Given the description of an element on the screen output the (x, y) to click on. 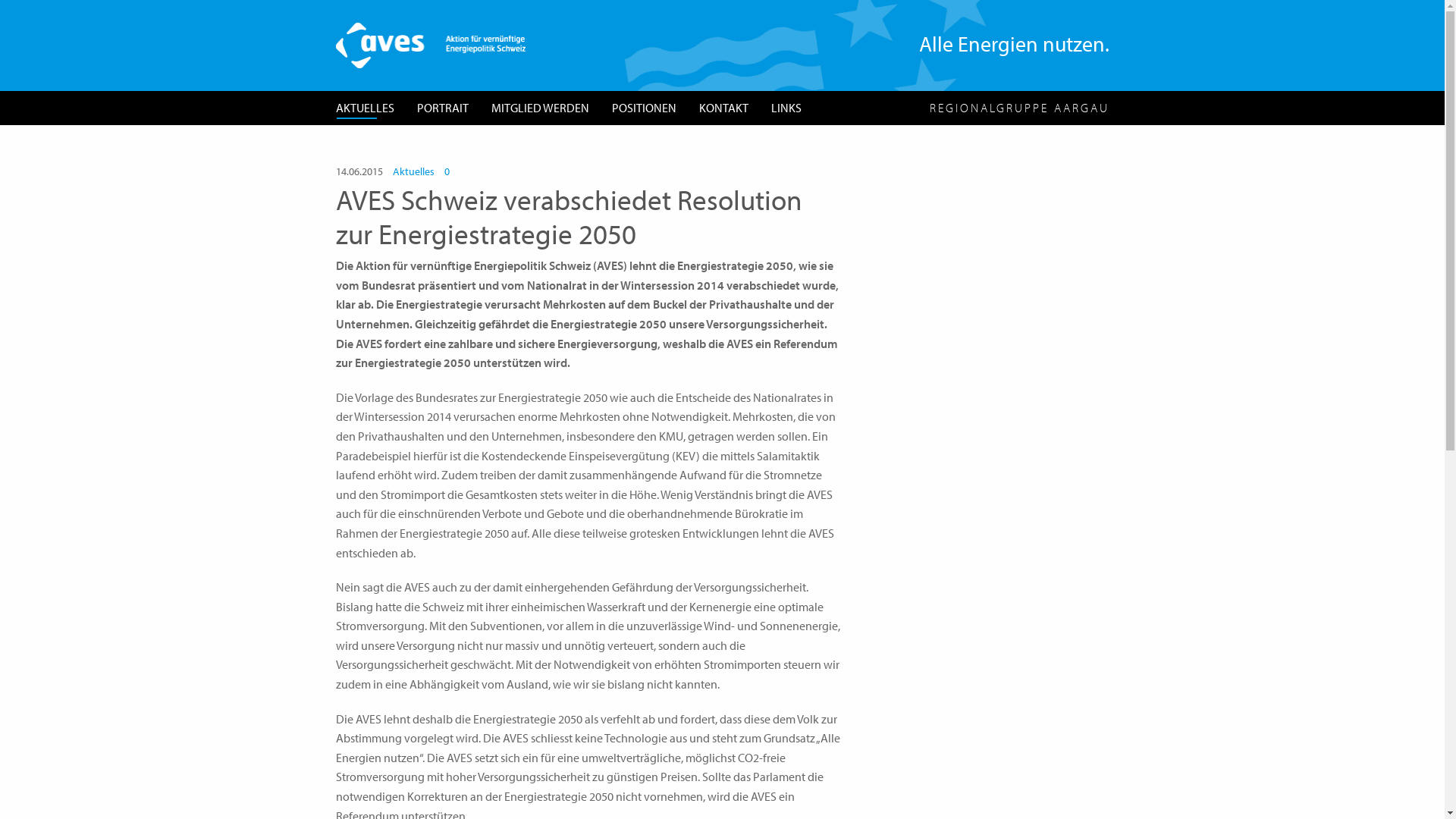
KONTAKT Element type: text (723, 108)
LINKS Element type: text (785, 108)
AKTUELLES Element type: text (364, 108)
Aktuelles Element type: text (413, 171)
POSITIONEN Element type: text (643, 108)
AVES Element type: hover (429, 43)
PORTRAIT Element type: text (441, 108)
MITGLIED WERDEN Element type: text (539, 108)
0 Element type: text (446, 171)
